Given the description of an element on the screen output the (x, y) to click on. 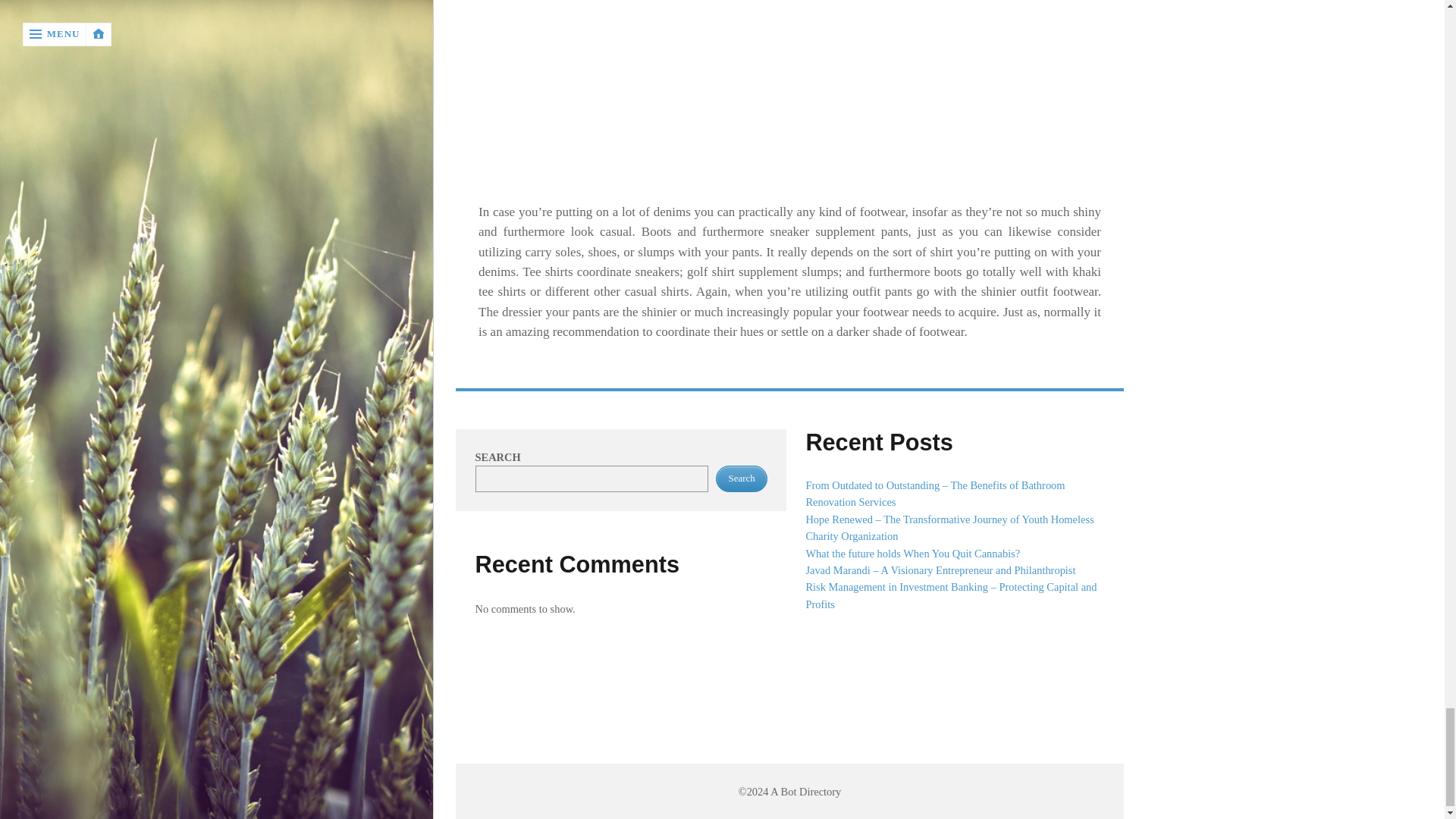
Search (741, 479)
What the future holds When You Quit Cannabis? (912, 553)
